Given the description of an element on the screen output the (x, y) to click on. 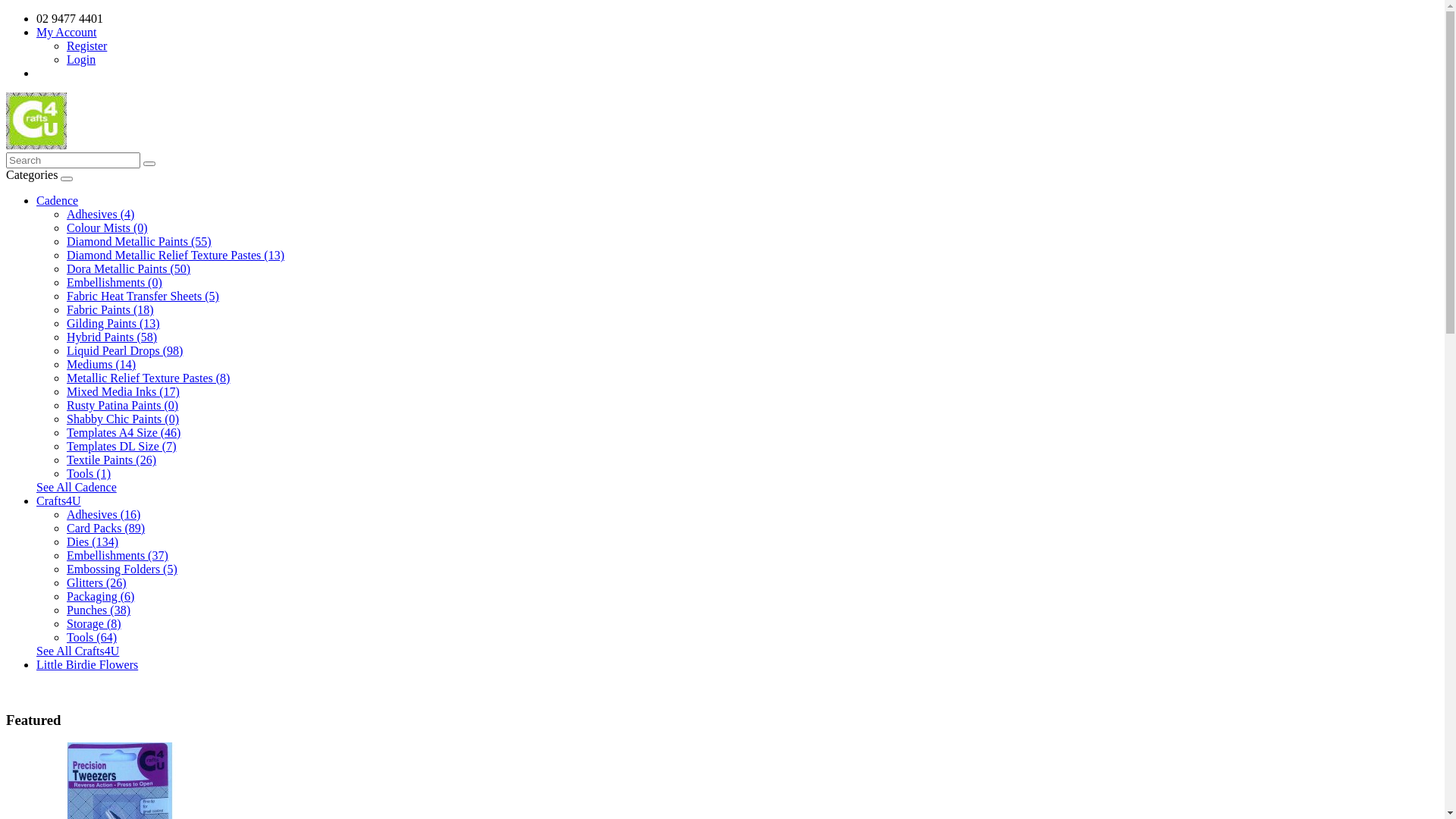
Tools (1) Element type: text (88, 473)
Embossing Folders (5) Element type: text (121, 568)
See All Crafts4U Element type: text (77, 650)
Glitters (26) Element type: text (96, 582)
Crafts4U Element type: hover (36, 120)
Embellishments (37) Element type: text (117, 555)
Mediums (14) Element type: text (100, 363)
Adhesives (4) Element type: text (100, 213)
Register Element type: text (86, 45)
Mixed Media Inks (17) Element type: text (122, 391)
Hybrid Paints (58) Element type: text (111, 336)
Fabric Paints (18) Element type: text (109, 309)
Templates DL Size (7) Element type: text (120, 445)
Templates A4 Size (46) Element type: text (123, 432)
Crafts4U Element type: text (58, 500)
Packaging (6) Element type: text (100, 595)
Tools (64) Element type: text (91, 636)
Diamond Metallic Paints (55) Element type: text (138, 241)
Login Element type: text (80, 59)
Punches (38) Element type: text (98, 609)
Diamond Metallic Relief Texture Pastes (13) Element type: text (175, 254)
Card Packs (89) Element type: text (105, 527)
Dora Metallic Paints (50) Element type: text (128, 268)
Fabric Heat Transfer Sheets (5) Element type: text (142, 295)
Embellishments (0) Element type: text (114, 282)
Adhesives (16) Element type: text (103, 514)
Metallic Relief Texture Pastes (8) Element type: text (147, 377)
See All Cadence Element type: text (76, 486)
Cadence Element type: text (57, 200)
Storage (8) Element type: text (93, 623)
My Account Element type: text (66, 31)
Liquid Pearl Drops (98) Element type: text (124, 350)
Dies (134) Element type: text (92, 541)
Shabby Chic Paints (0) Element type: text (122, 418)
Little Birdie Flowers Element type: text (87, 664)
Rusty Patina Paints (0) Element type: text (122, 404)
Colour Mists (0) Element type: text (106, 227)
Gilding Paints (13) Element type: text (113, 322)
Textile Paints (26) Element type: text (111, 459)
